Given the description of an element on the screen output the (x, y) to click on. 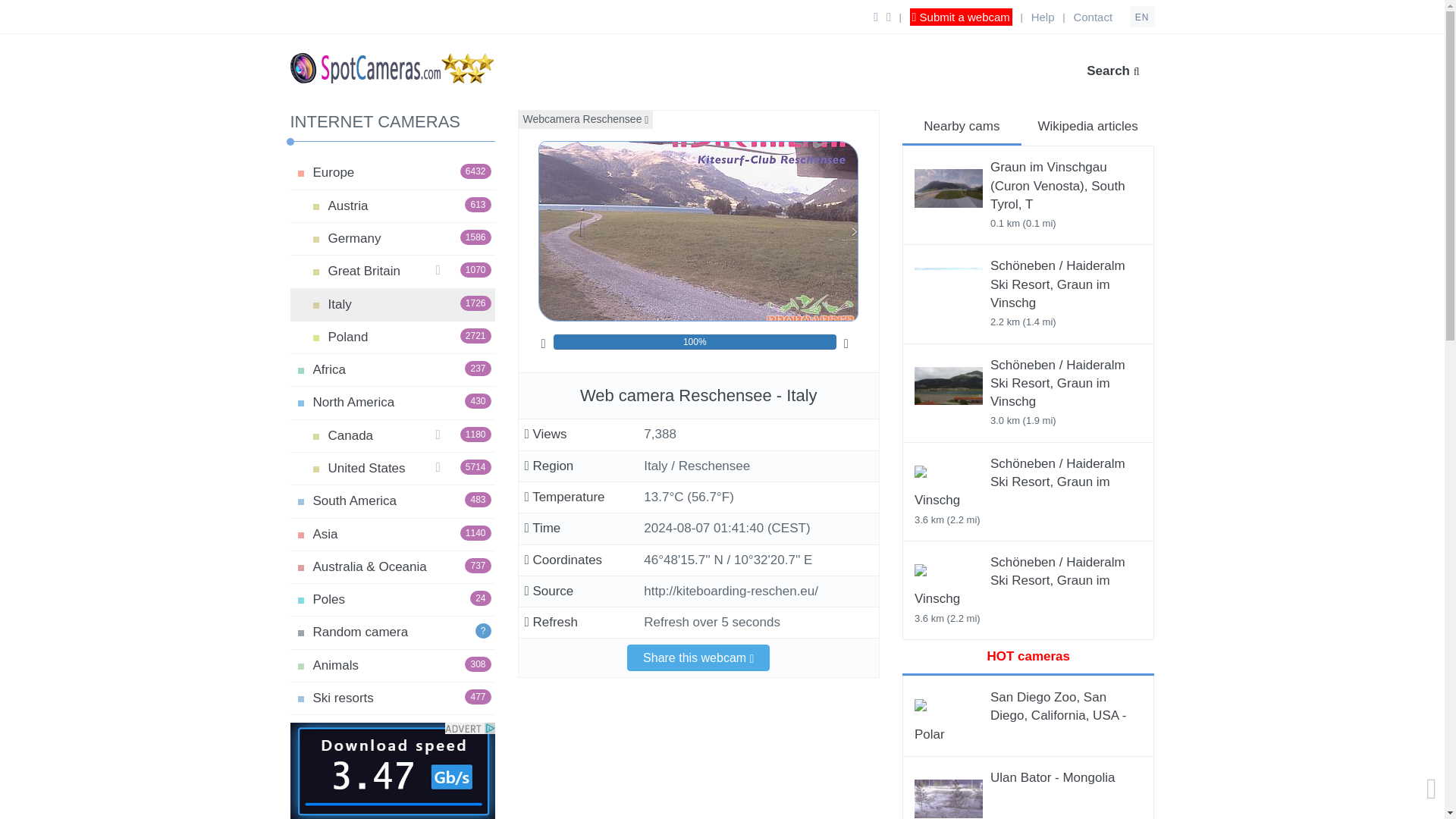
webcam Reschensee (697, 231)
EN (1141, 16)
Search (338, 304)
Help (362, 270)
Contact (329, 369)
Submit a webcam (353, 237)
